Given the description of an element on the screen output the (x, y) to click on. 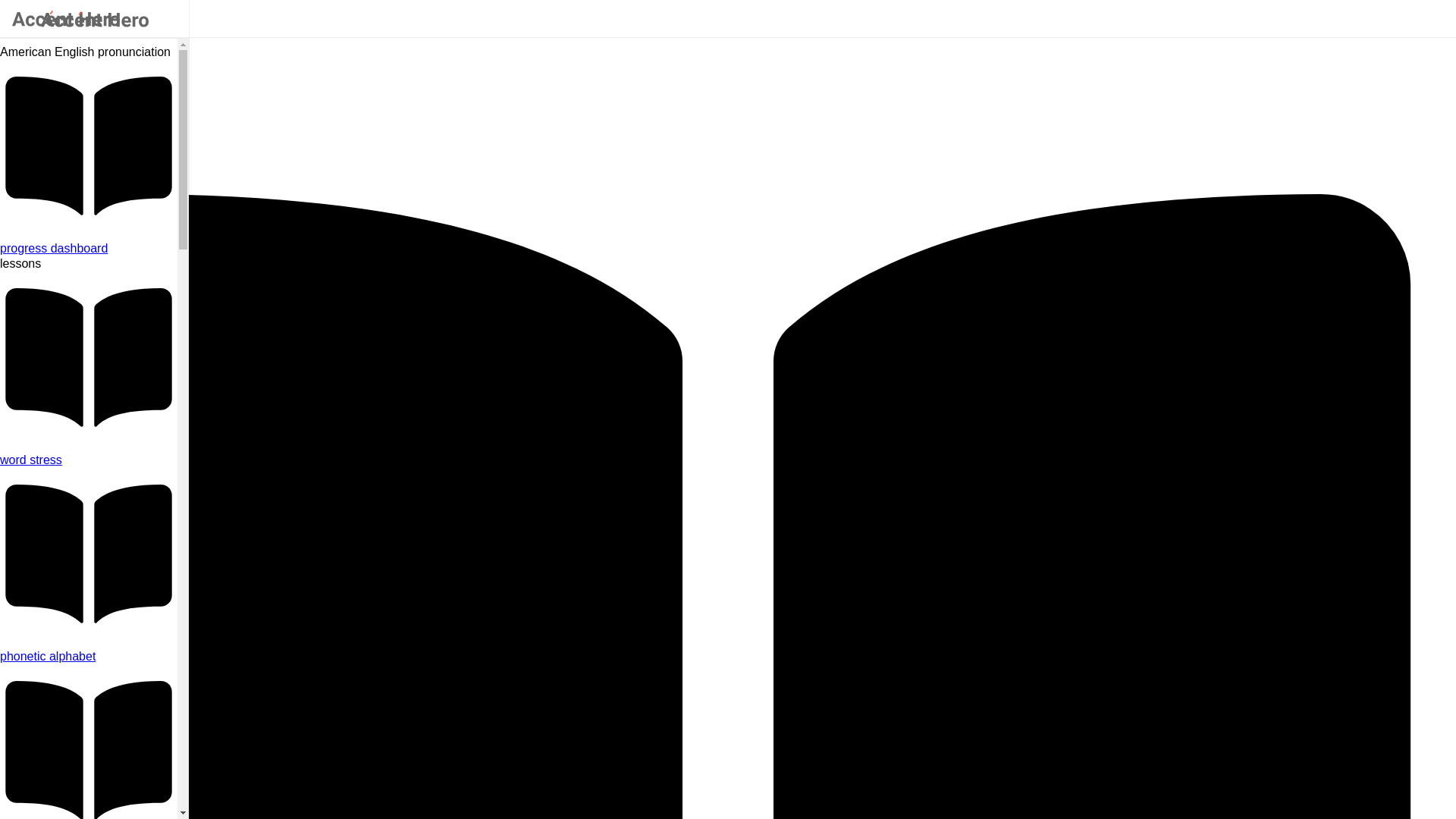
Learn to precisely articulate each sound (88, 656)
Learn how word stress influences your accent (88, 459)
